Given the description of an element on the screen output the (x, y) to click on. 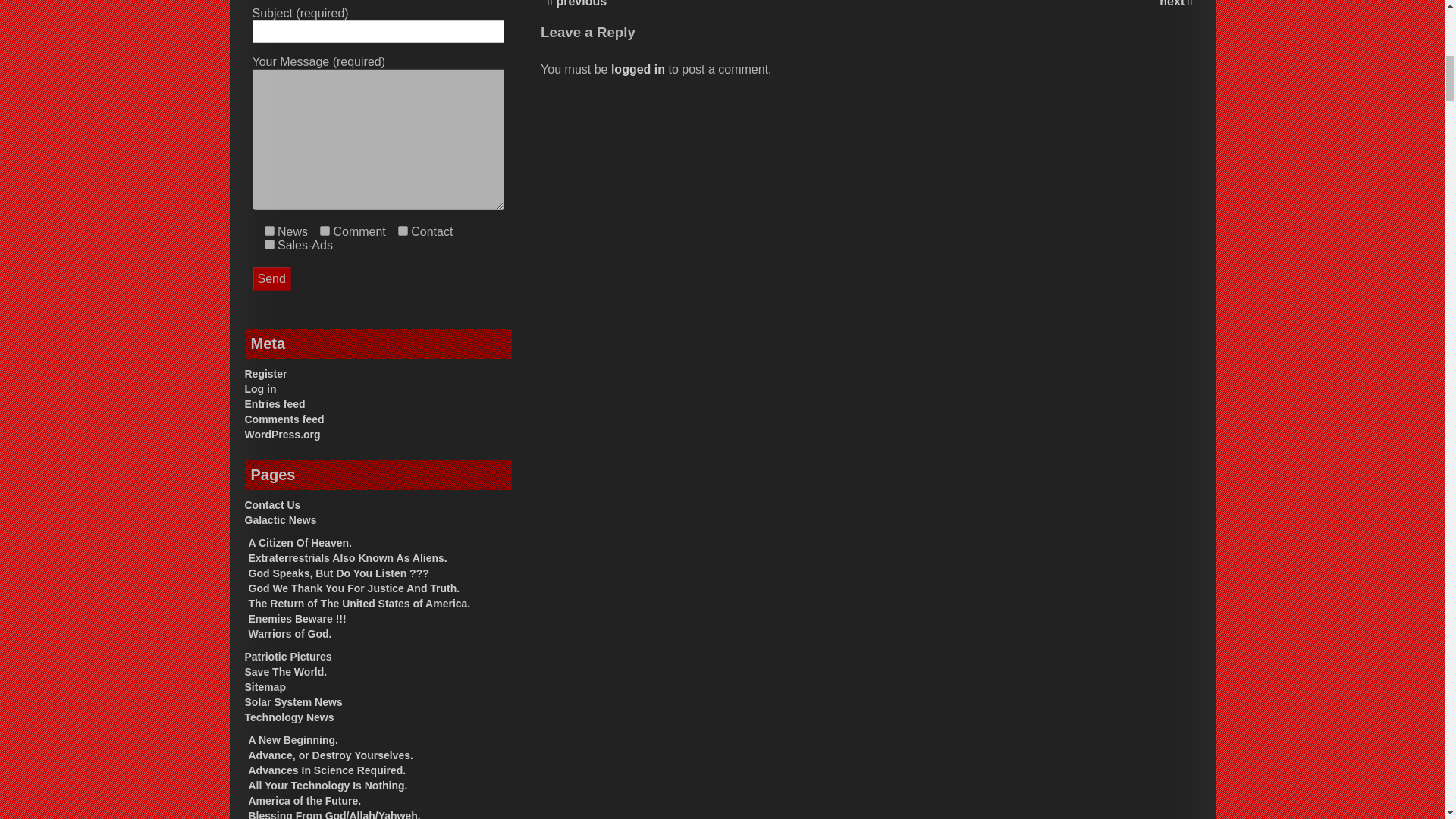
News (268, 230)
Comment (325, 230)
Contact (402, 230)
Sales-Ads (268, 244)
Send (270, 278)
